Given the description of an element on the screen output the (x, y) to click on. 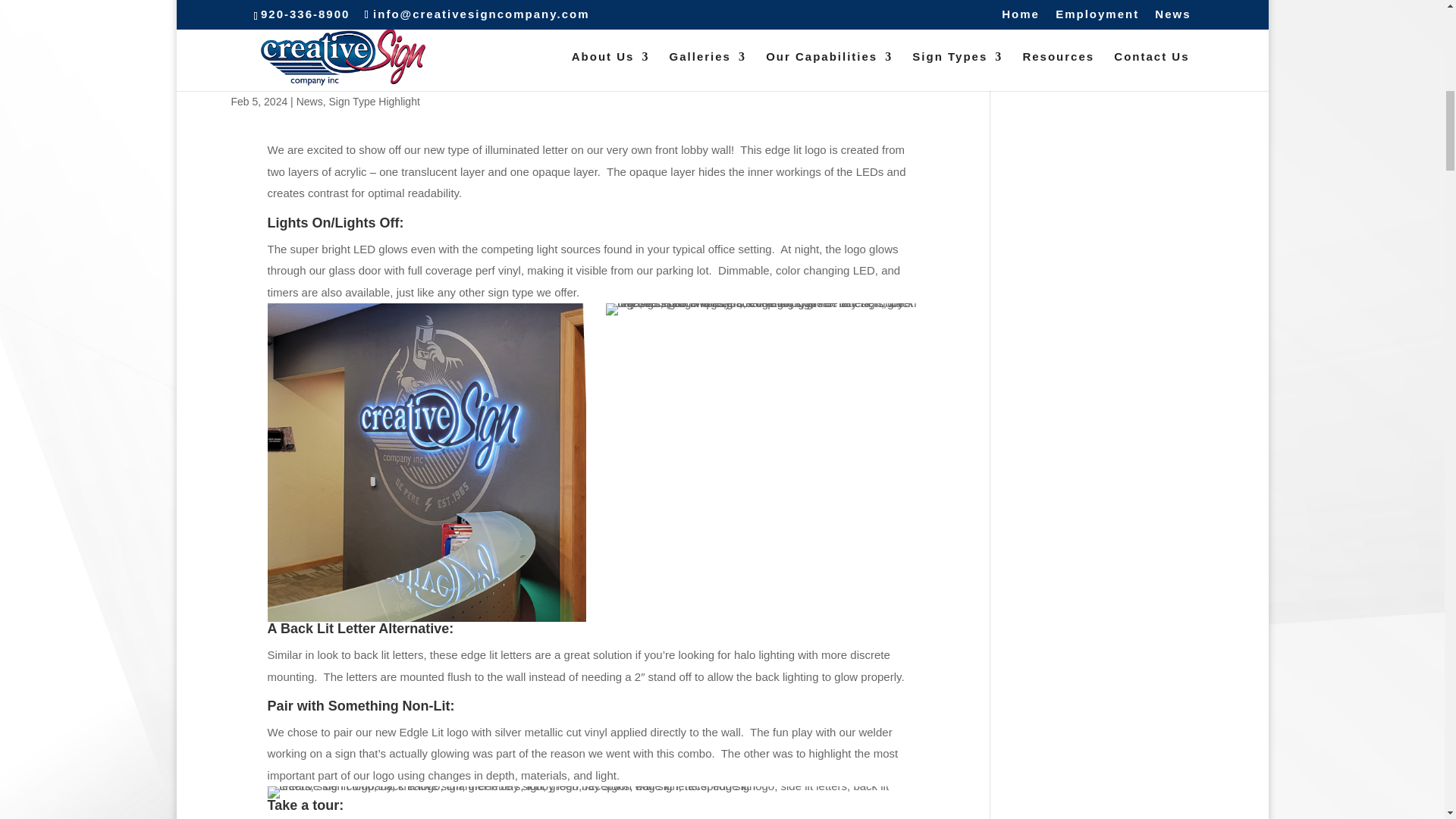
WSA Award Winner (595, 792)
WSA Award Winner (764, 309)
WSA Award Winner (426, 462)
